Given the description of an element on the screen output the (x, y) to click on. 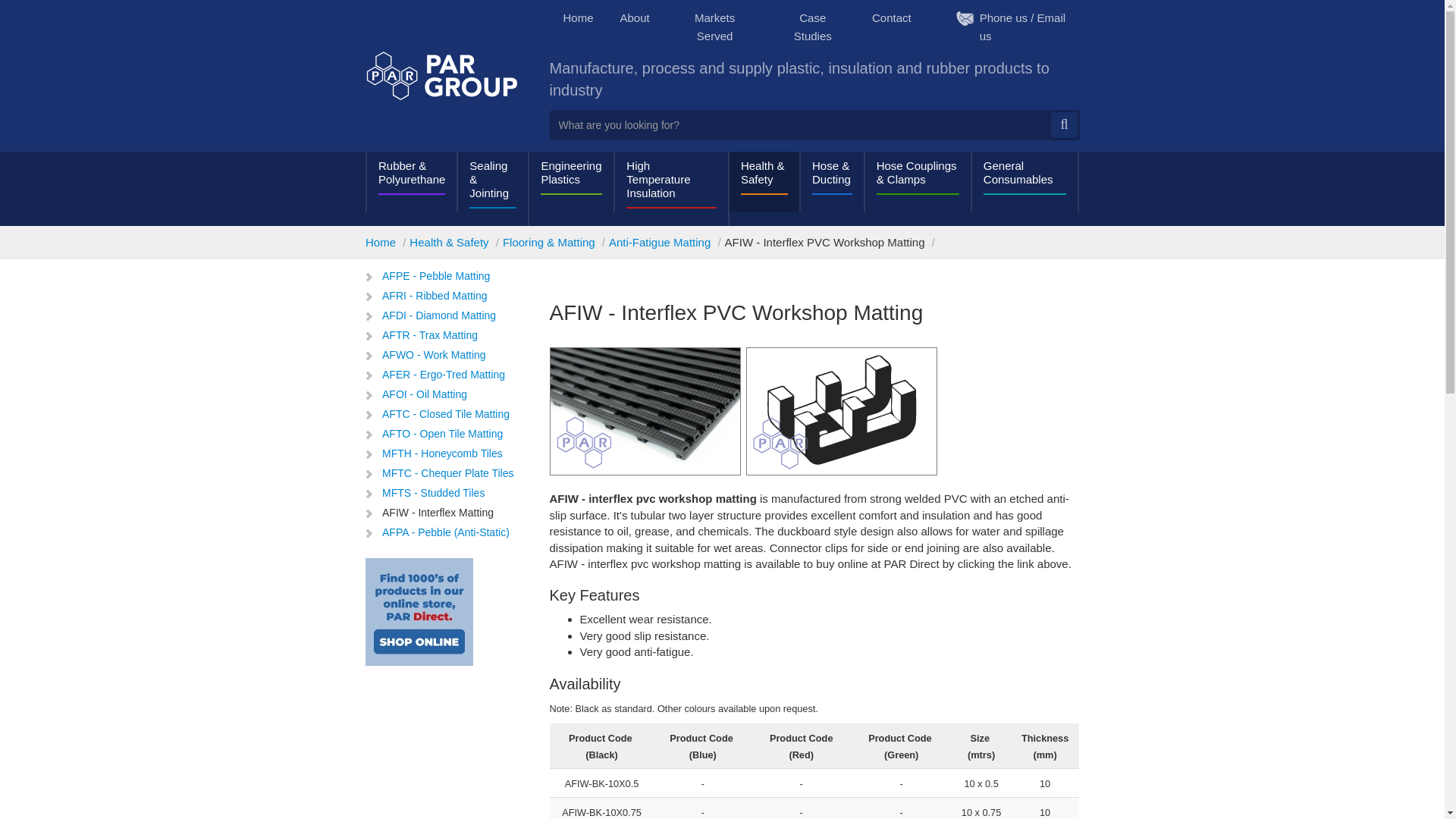
AFIW - Interflex PVC Workshop Matting (643, 411)
AFIW - Connectors (841, 411)
PAR Group (440, 75)
